Given the description of an element on the screen output the (x, y) to click on. 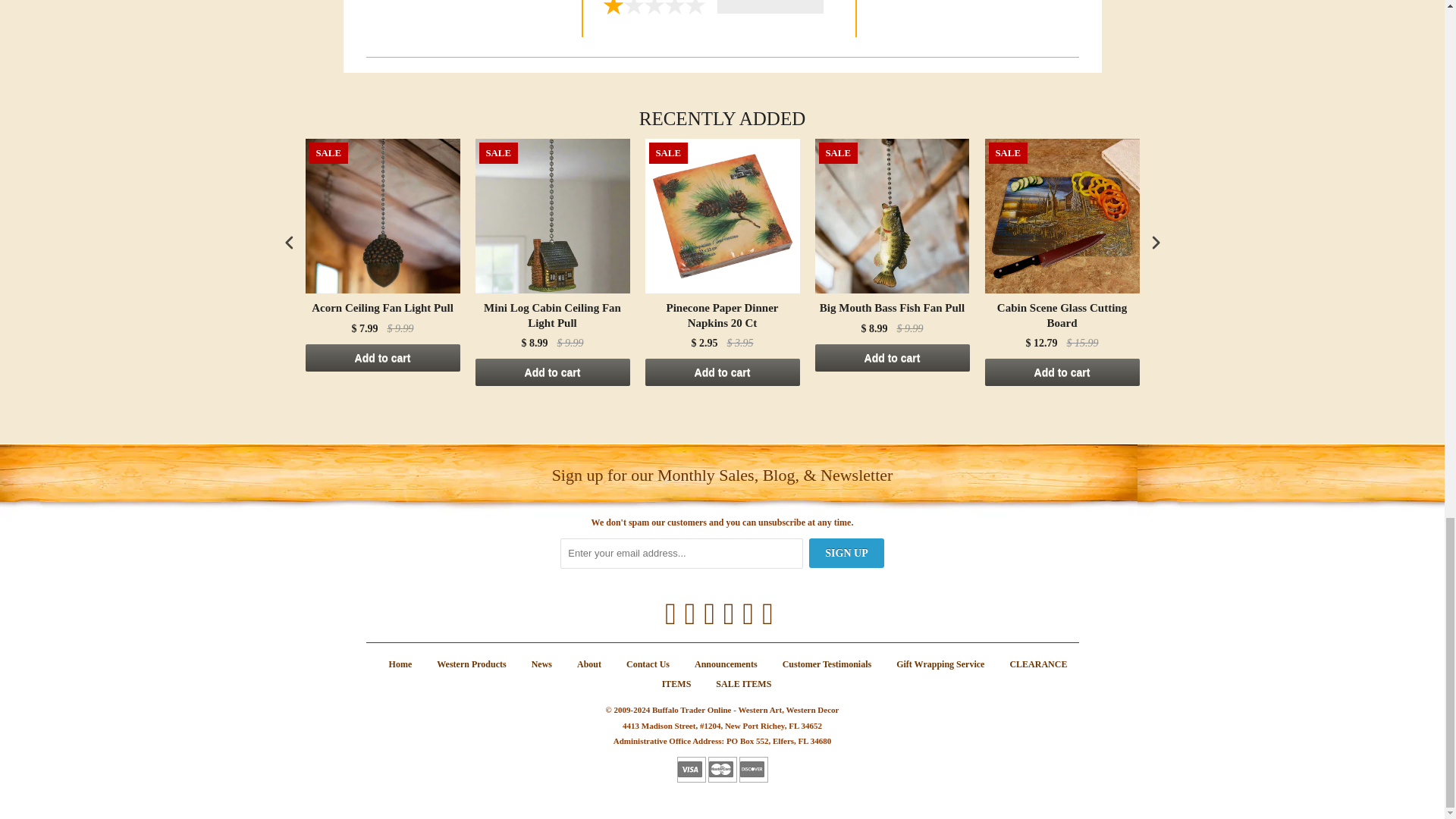
Sign Up (846, 553)
